Given the description of an element on the screen output the (x, y) to click on. 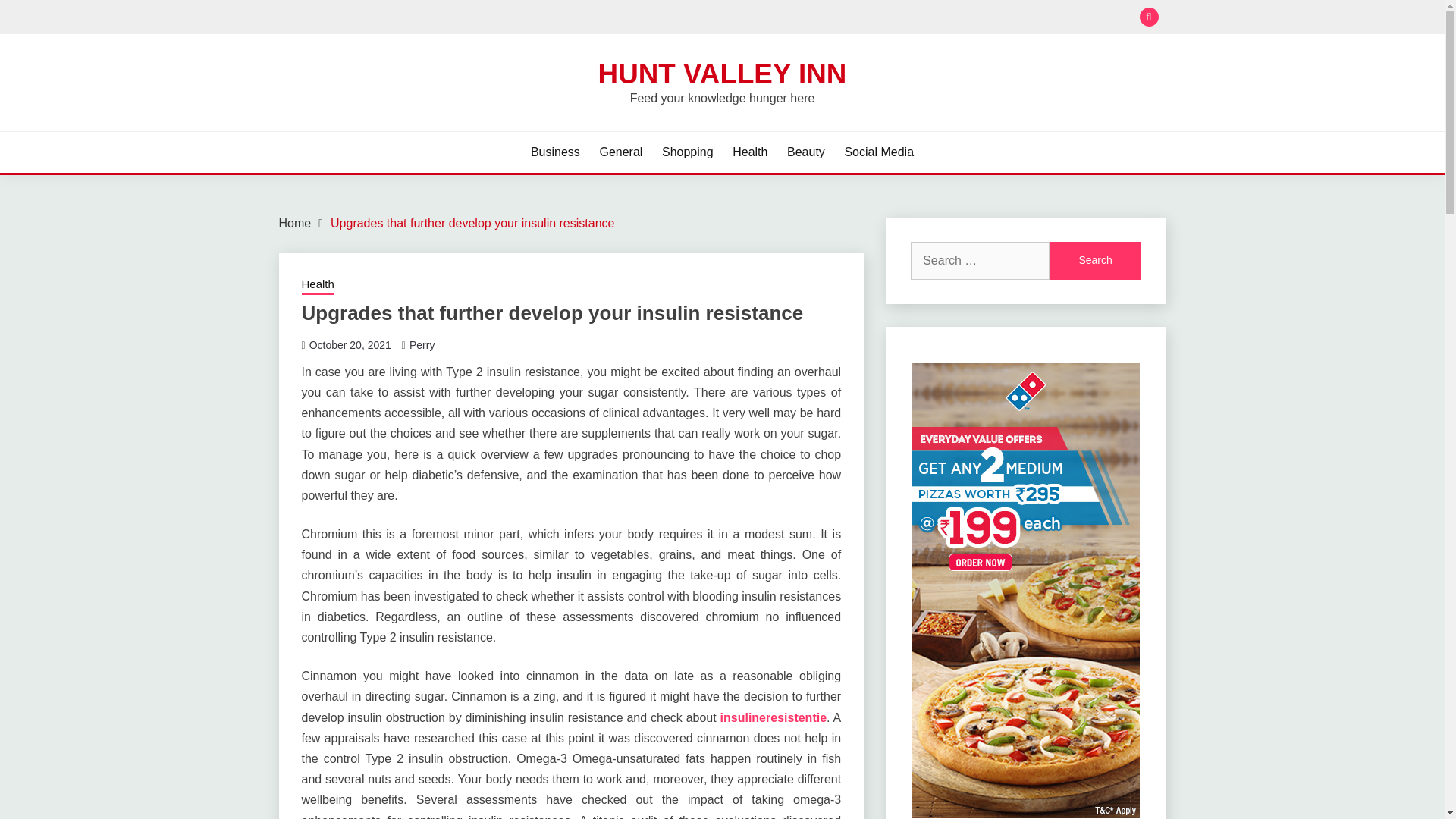
October 20, 2021 (349, 345)
Beauty (806, 152)
Home (295, 223)
Health (317, 285)
Perry (421, 345)
Search (832, 18)
Search (1095, 260)
Health (749, 152)
Search (1095, 260)
insulineresistentie (773, 717)
